Given the description of an element on the screen output the (x, y) to click on. 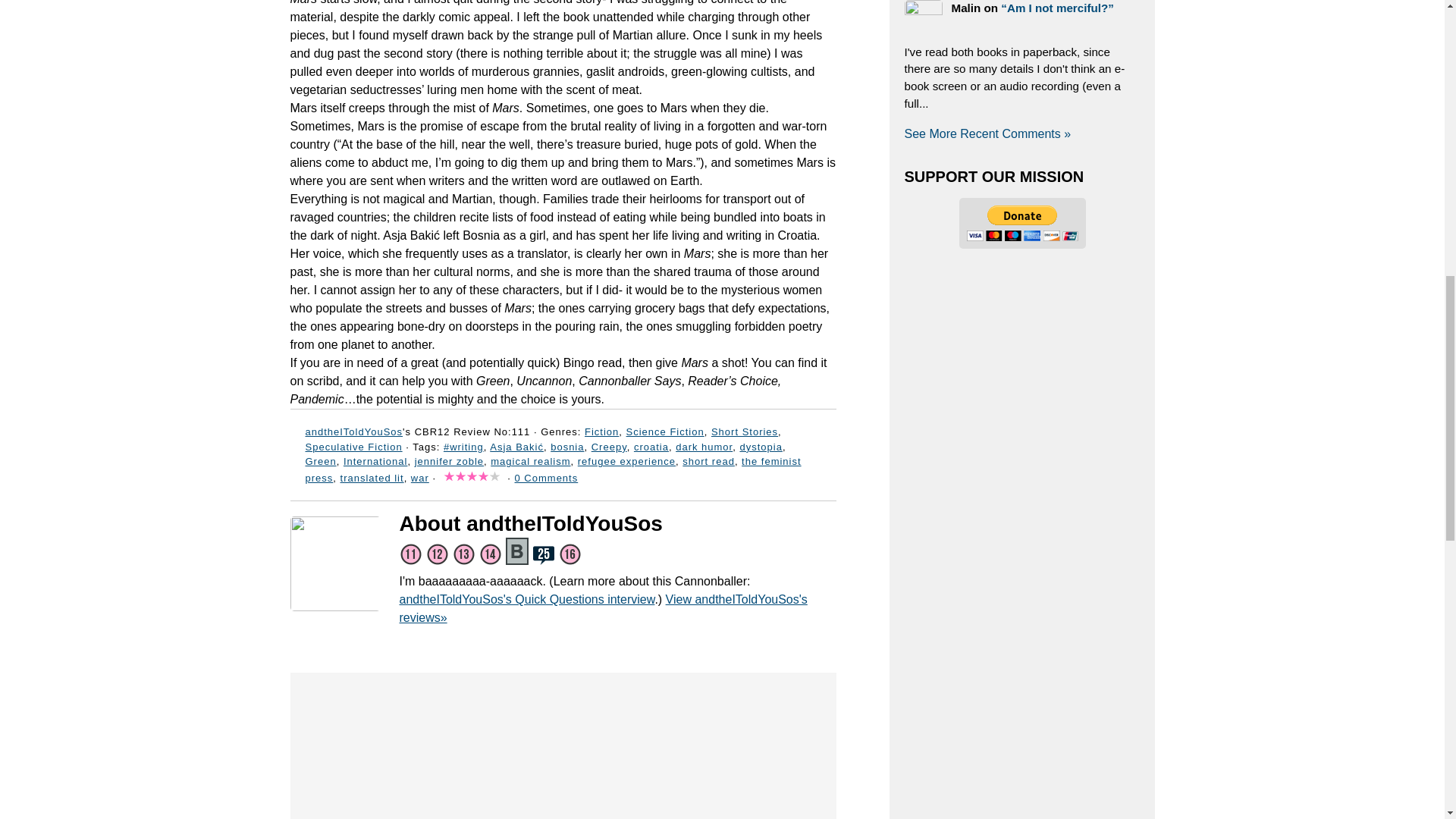
September 1, 2020 at 11:32:45 AM UTC-4 (562, 380)
September 1, 2020 at 11:32:45 AM UTC-4 (562, 271)
September 1, 2020 at 11:32:45 AM UTC-4 (562, 49)
September 1, 2020 at 11:32:45 AM UTC-4 (562, 144)
